Given the description of an element on the screen output the (x, y) to click on. 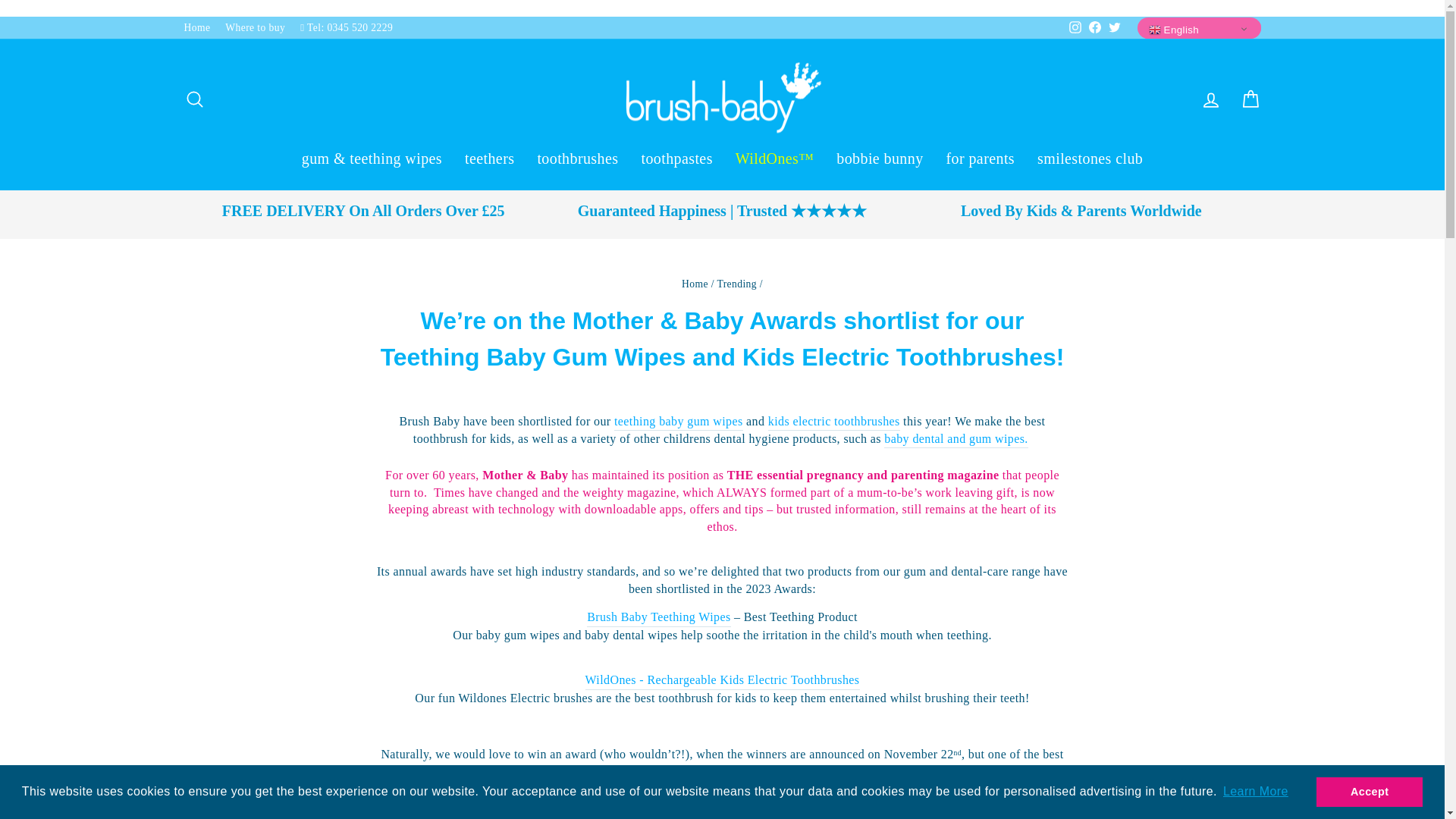
BrushBaby on Facebook (1093, 27)
Brush Baby kids electric toothbrush (833, 421)
Learn More (1255, 791)
Where to buy (254, 27)
BrushBaby on Instagram (1074, 27)
Home (196, 27)
BrushBaby on Twitter (1113, 27)
Facebook (1093, 27)
English (1205, 29)
Back to the frontpage (694, 283)
Twitter (1113, 27)
Instagram (1074, 27)
Accept (1369, 791)
Baby Baby teething wipes and baby gum wipes (955, 438)
Brush Baby teething gum wipes (678, 421)
